Given the description of an element on the screen output the (x, y) to click on. 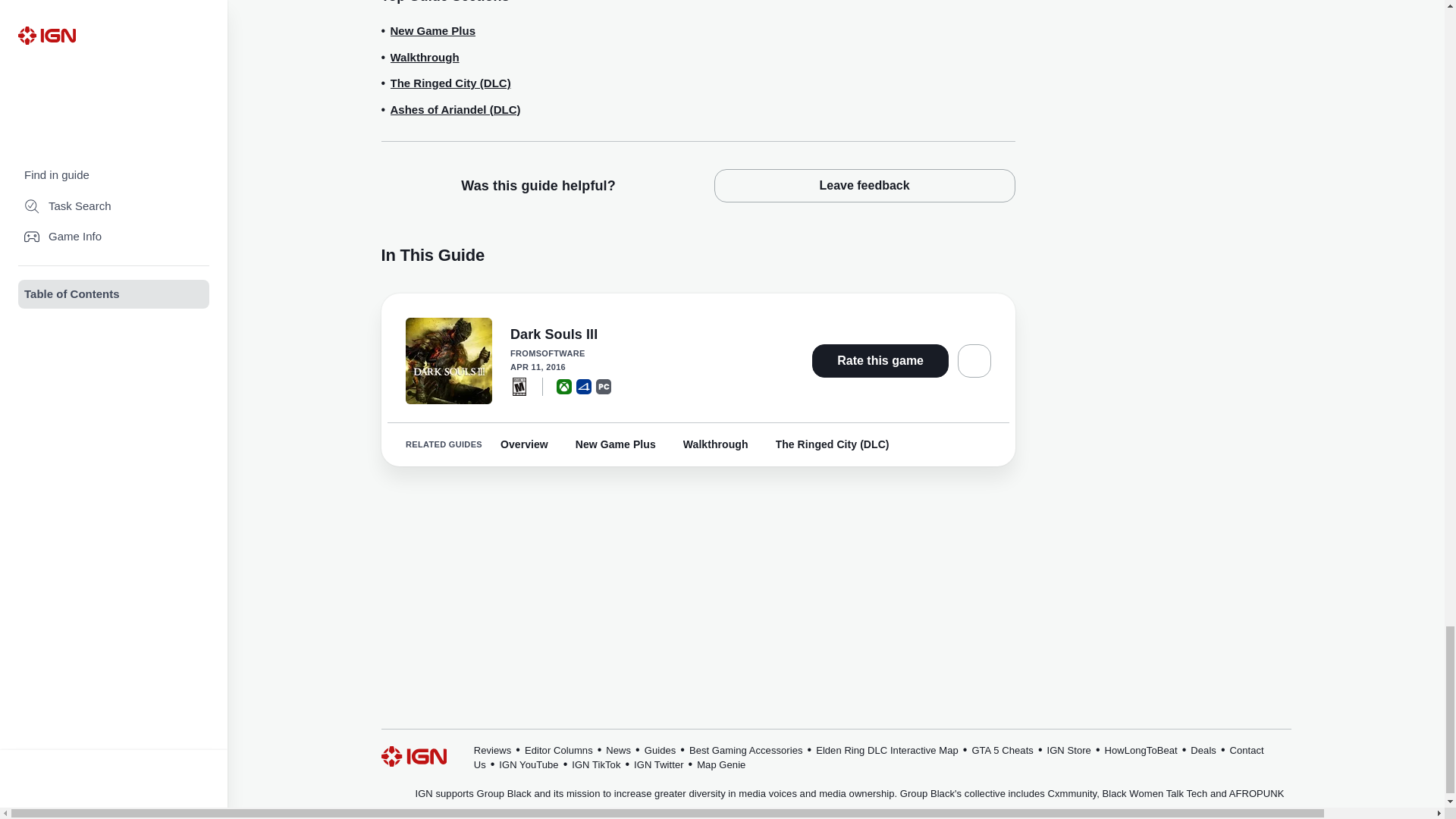
PlayStation 4 (583, 385)
ESRB: Mature (518, 385)
PC (603, 385)
Xbox One (564, 385)
